Given the description of an element on the screen output the (x, y) to click on. 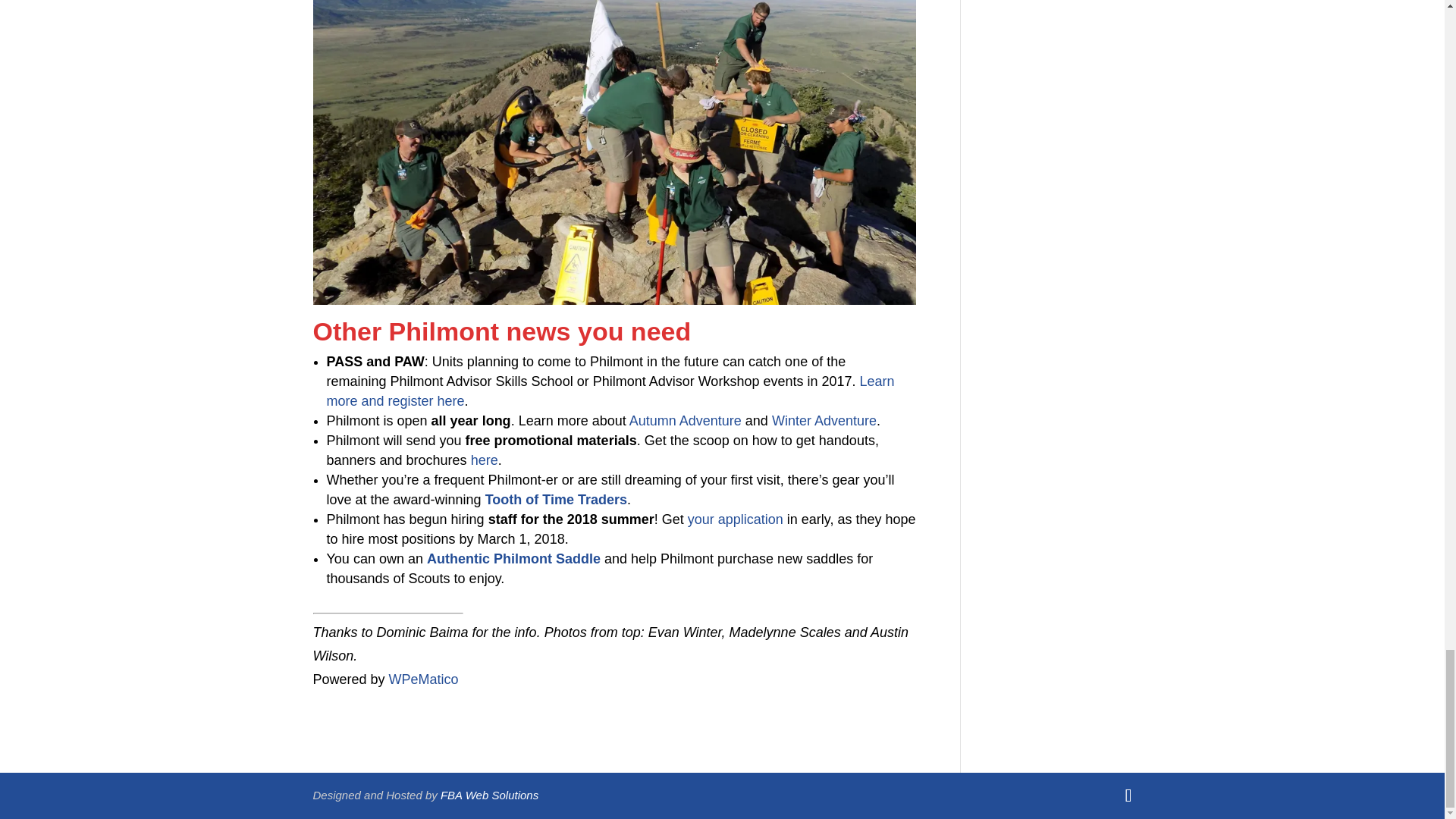
your application (735, 519)
Winter Adventure (823, 420)
Learn more and register here (609, 390)
here (483, 459)
WPeMatico (423, 679)
Autumn Adventure (684, 420)
Tooth of Time Traders (555, 499)
Authentic Philmont Saddle (512, 558)
